Given the description of an element on the screen output the (x, y) to click on. 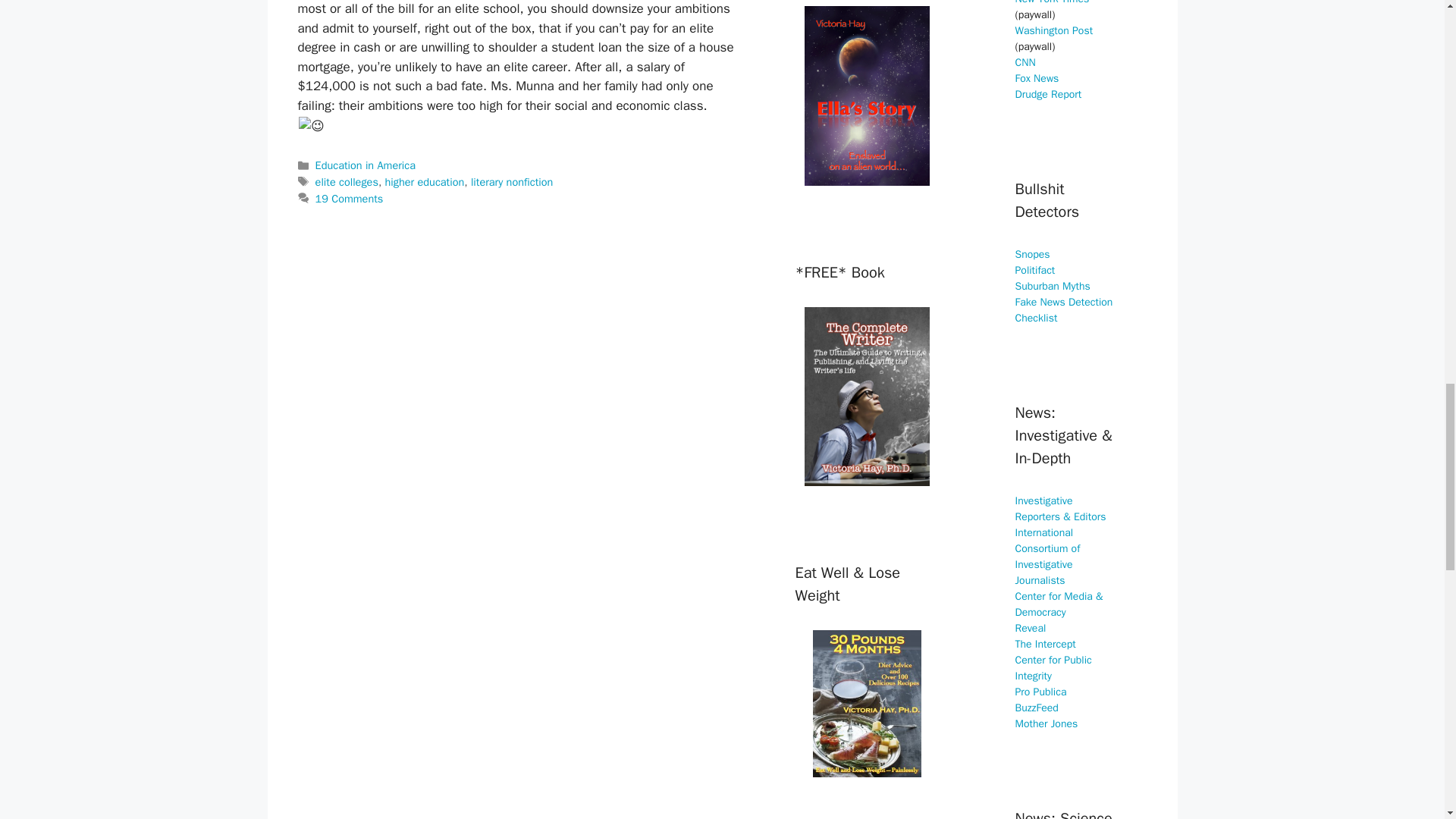
literary nonfiction (511, 182)
higher education (424, 182)
elite colleges (346, 182)
Education in America (364, 164)
19 Comments (349, 198)
